Given the description of an element on the screen output the (x, y) to click on. 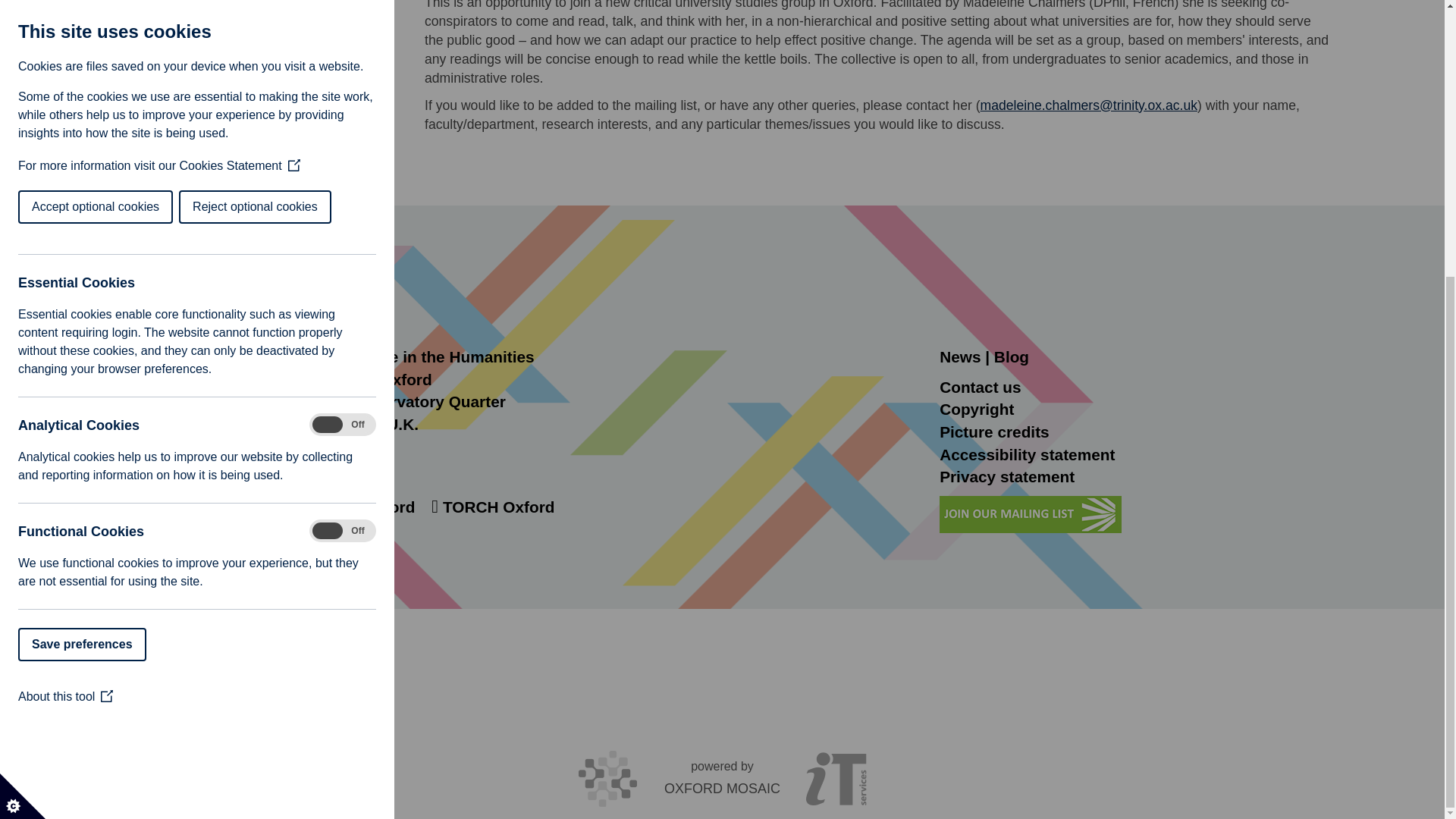
Call for papers (251, 87)
Maillist button (1030, 514)
Twitter (277, 506)
Oxford logo (251, 296)
